Given the description of an element on the screen output the (x, y) to click on. 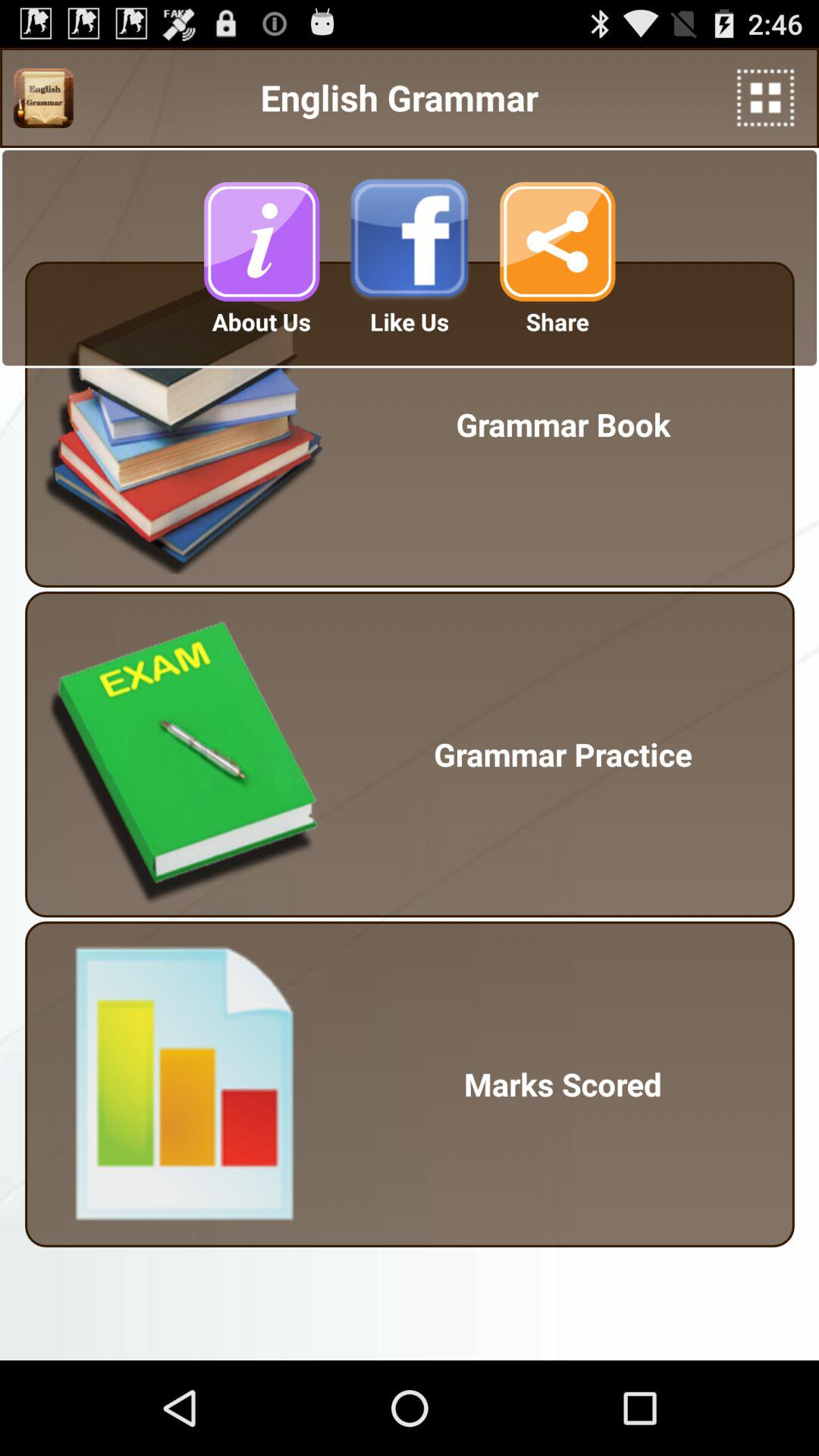
change view (765, 97)
